Given the description of an element on the screen output the (x, y) to click on. 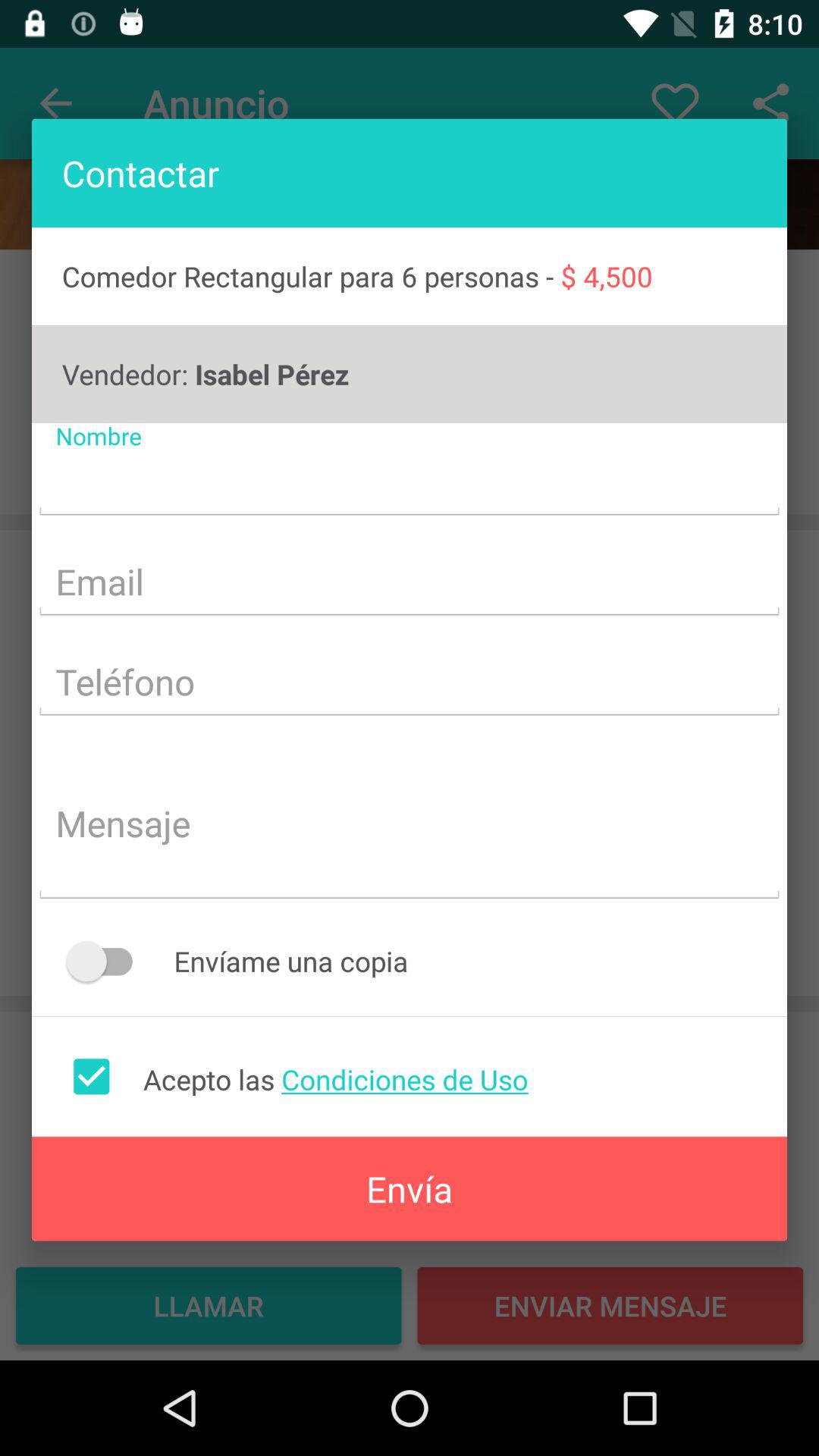
message box (409, 825)
